Given the description of an element on the screen output the (x, y) to click on. 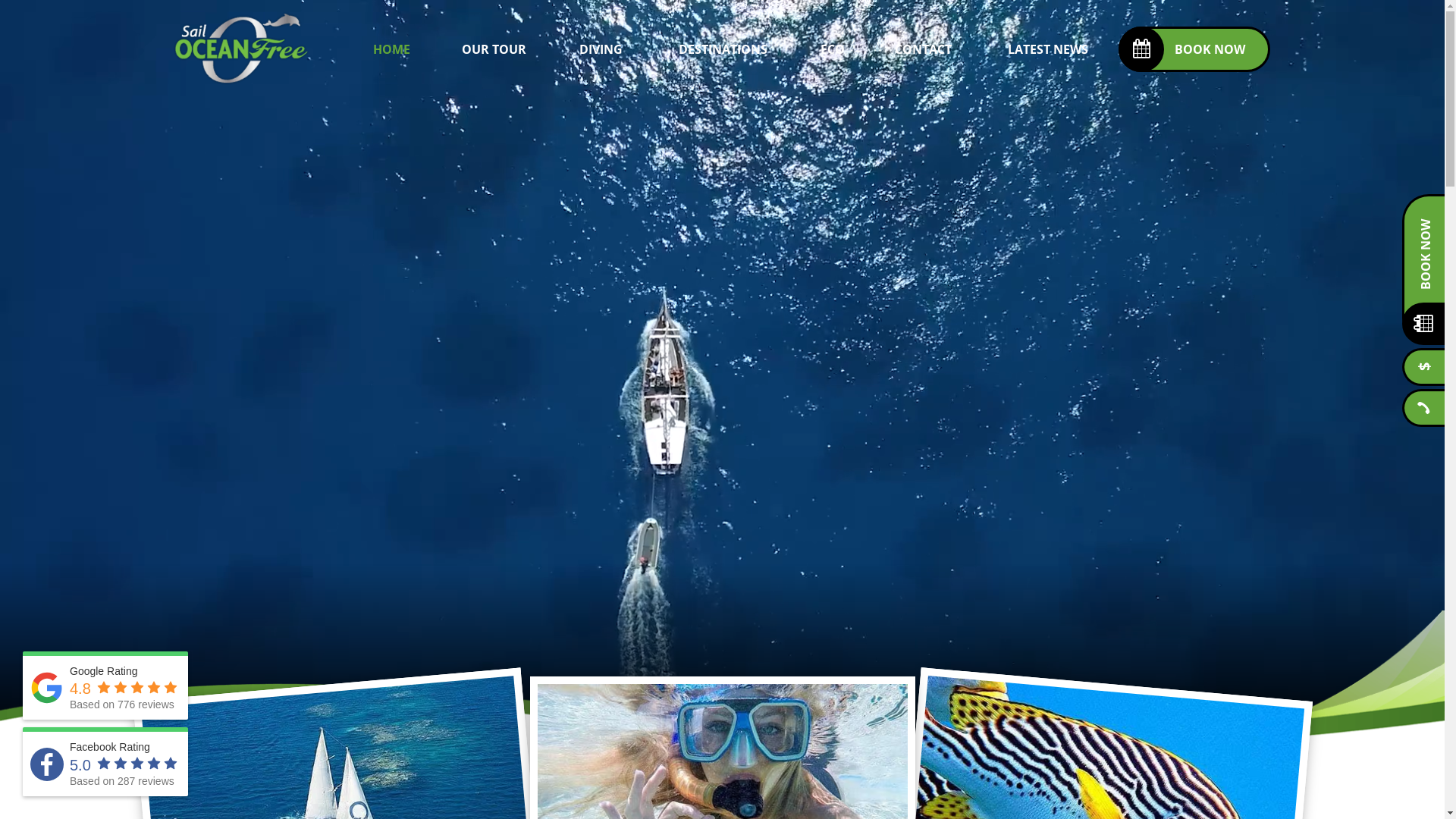
BOOK NOW Element type: text (1194, 49)
$ Element type: text (1421, 369)
ECO Element type: text (832, 49)
LATEST NEWS Element type: text (1048, 49)
DIVING Element type: text (600, 49)
CONTACT Element type: text (922, 49)
HOME Element type: text (390, 49)
OUR TOUR Element type: text (494, 49)
DESTINATIONS Element type: text (722, 49)
Call Us Element type: hover (1421, 410)
